Given the description of an element on the screen output the (x, y) to click on. 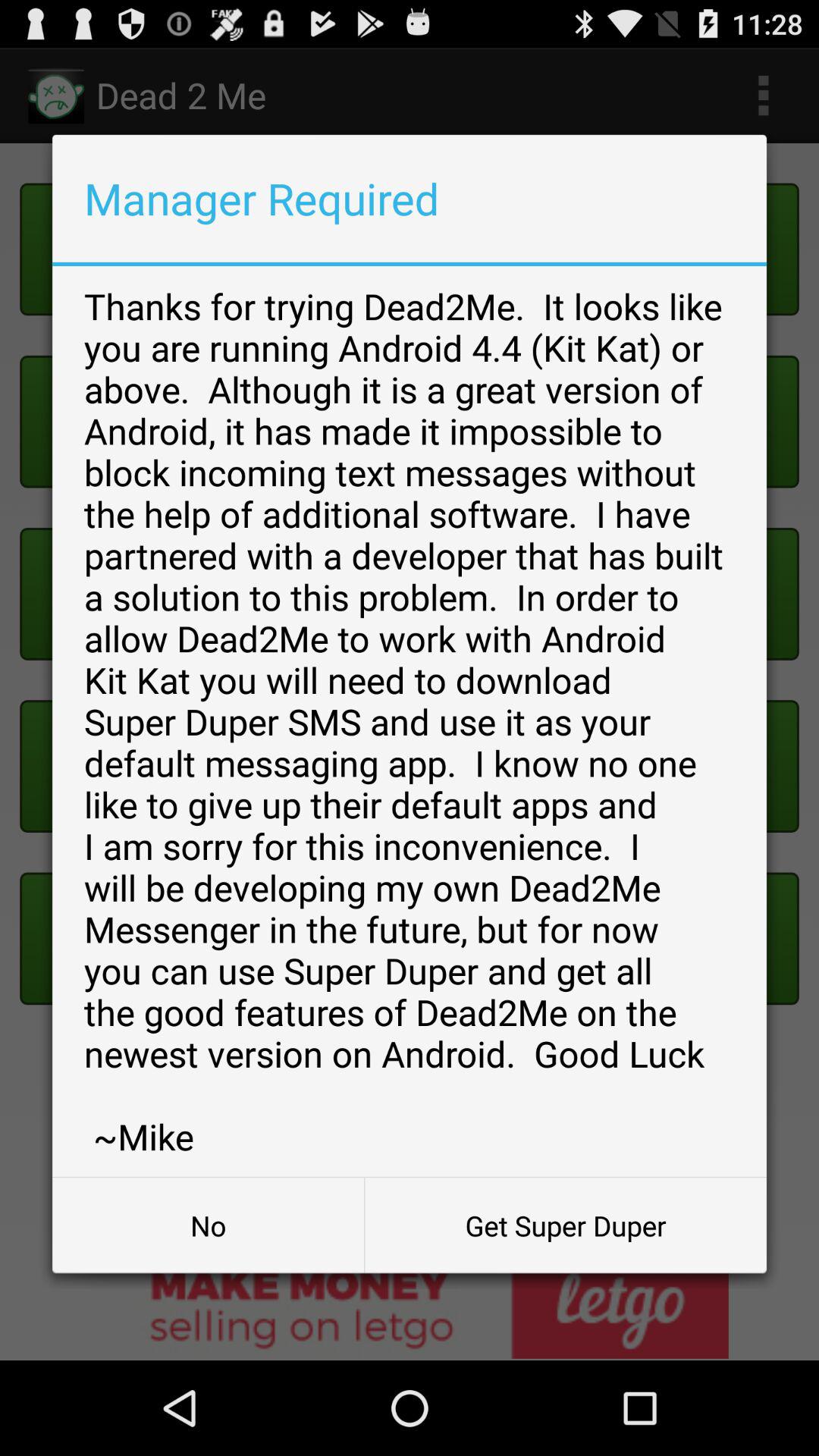
launch icon at the bottom right corner (565, 1225)
